Given the description of an element on the screen output the (x, y) to click on. 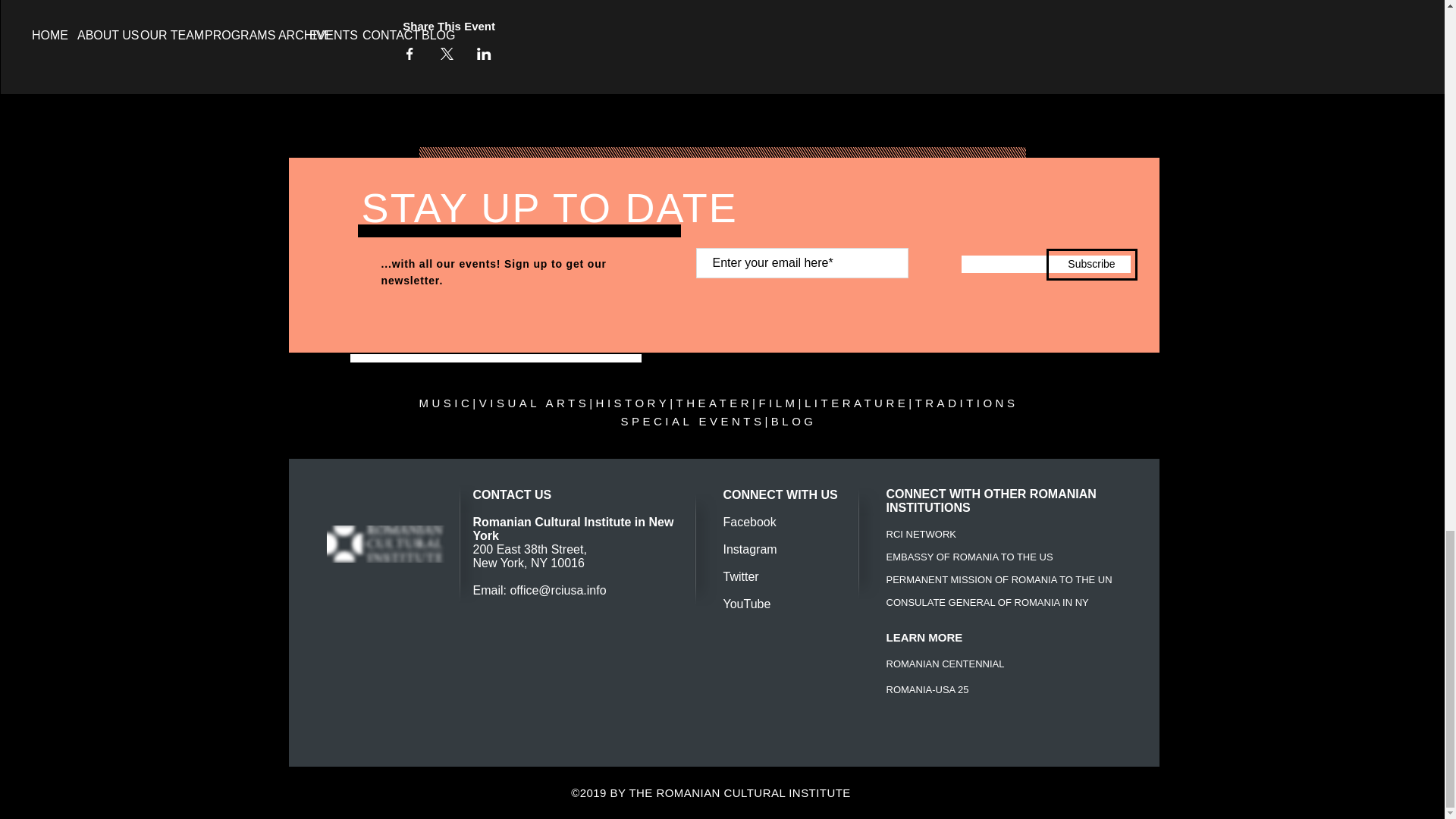
HISTORY (632, 402)
THEATER (714, 402)
FILM (777, 402)
Subscribe (1091, 264)
LITERATURE (856, 402)
SPECIAL EVENTS (692, 420)
MUSIC (446, 402)
TRADITIONS (966, 402)
BLOG (793, 420)
VISUAL ARTS (534, 402)
